Given the description of an element on the screen output the (x, y) to click on. 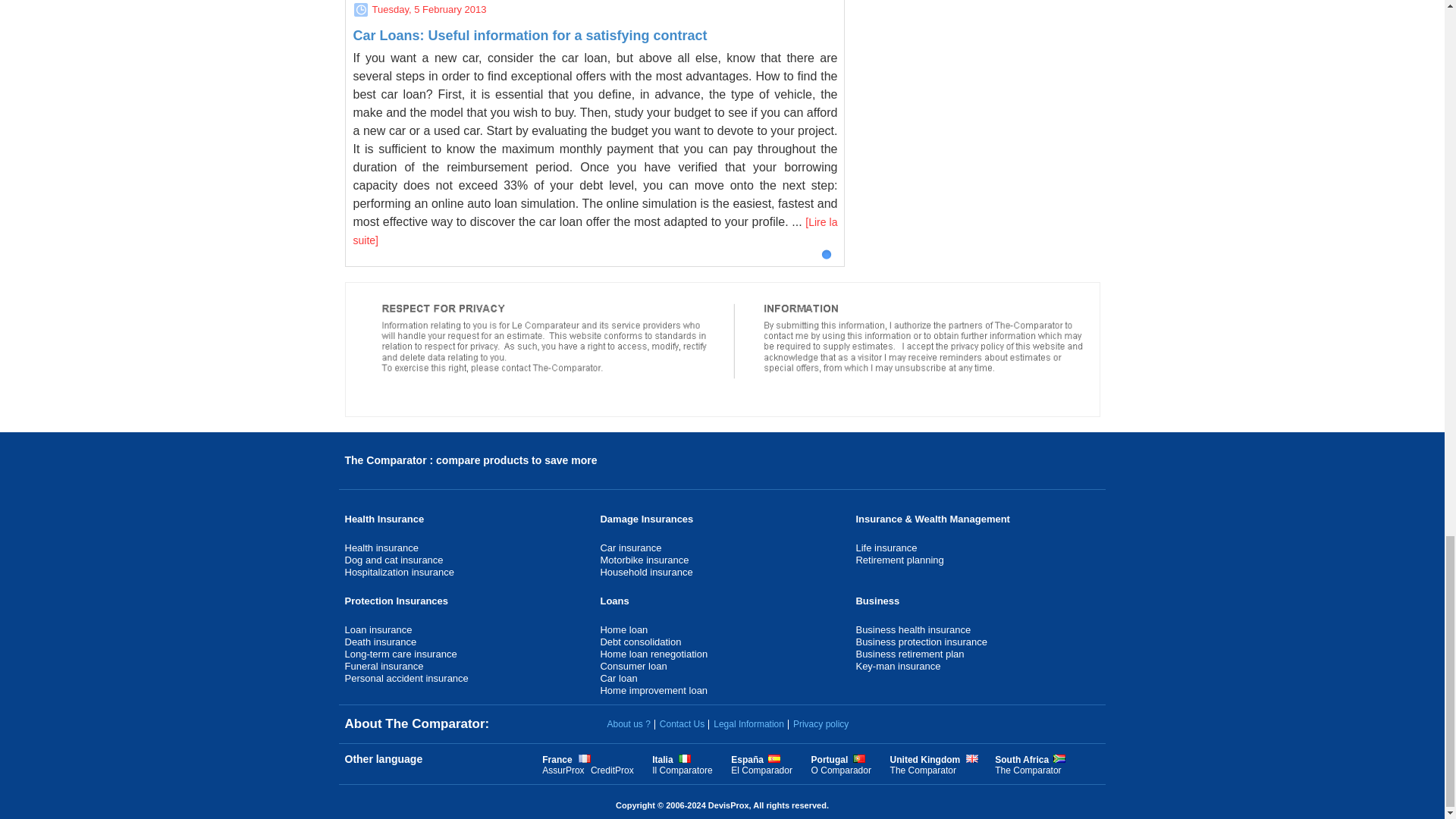
Dog and cat insurance (392, 559)
Car Loans: Useful information for a satisfying contract (530, 35)
Home improvement loan (653, 690)
Household insurance (646, 572)
Loan insurance (377, 629)
Consumer loan (632, 665)
Retirement planning (899, 559)
Life insurance (886, 547)
Home loan renegotiation (653, 654)
Business retirement plan (909, 654)
Lire la suite (595, 231)
Death insurance (379, 641)
Personal accident insurance (405, 677)
Home loan (623, 629)
Funeral insurance (383, 665)
